Given the description of an element on the screen output the (x, y) to click on. 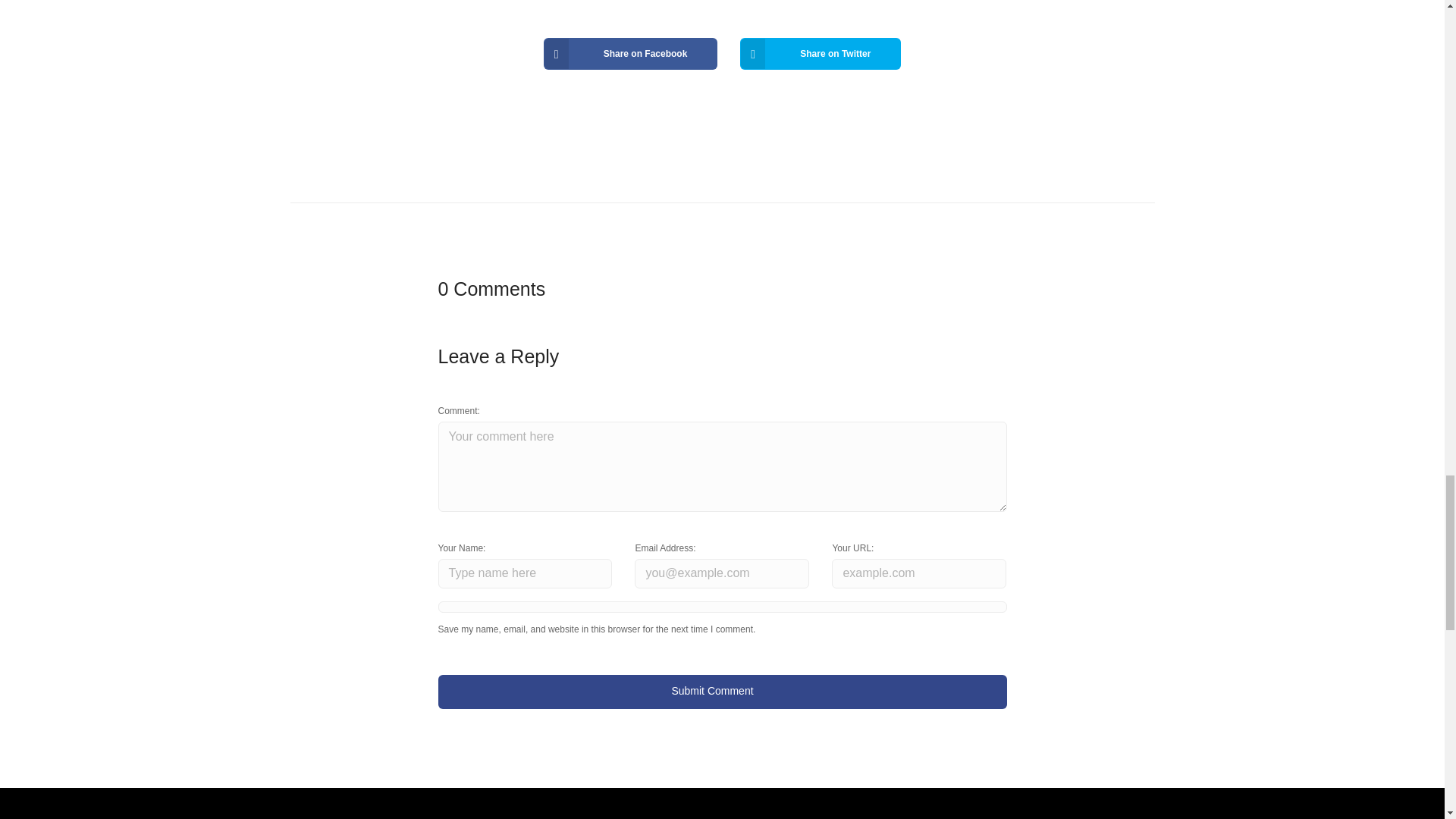
Share on Twitter (820, 53)
yes (722, 606)
Share on Facebook (630, 53)
Submit Comment (722, 692)
Submit Comment (722, 692)
